Given the description of an element on the screen output the (x, y) to click on. 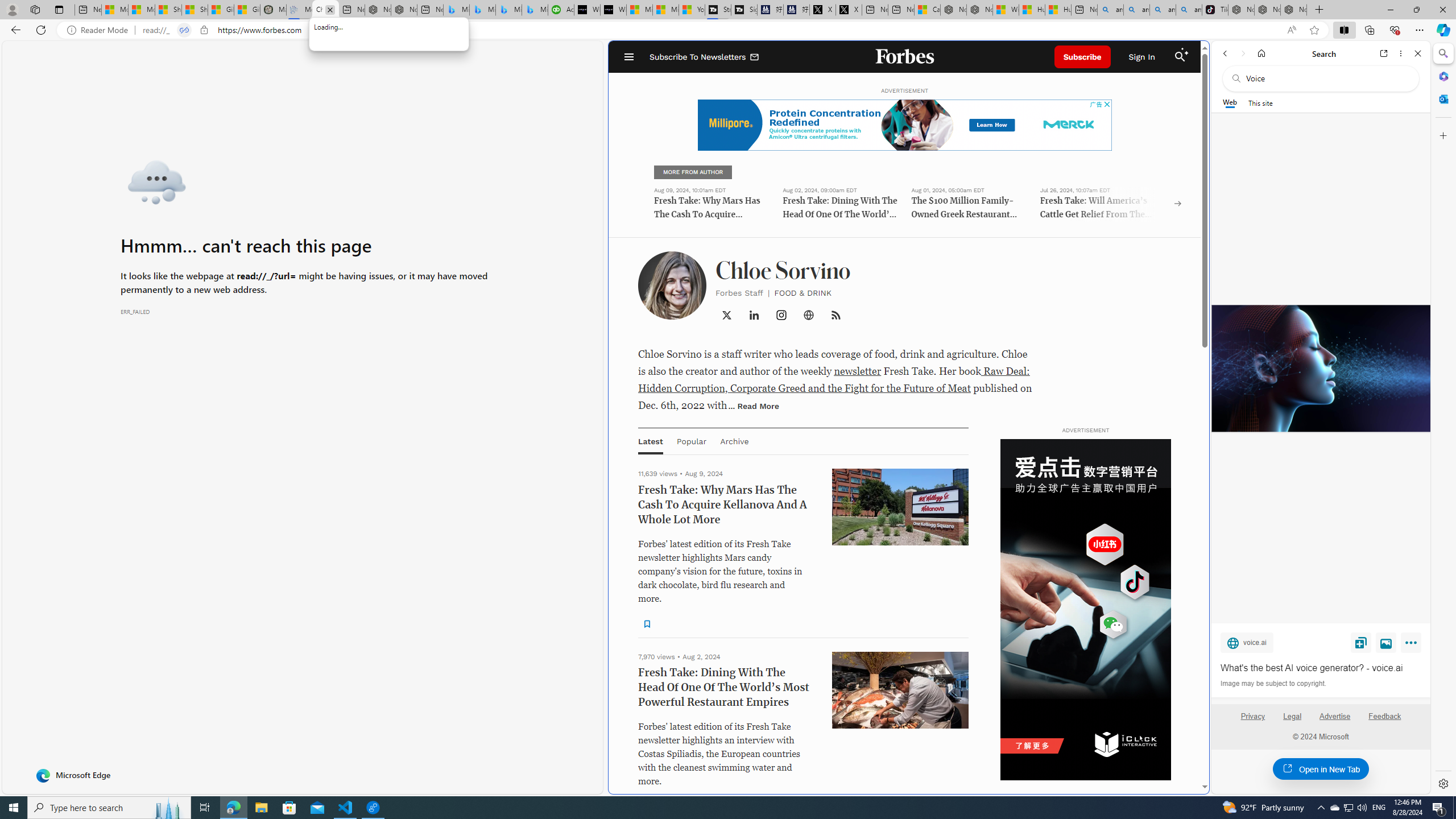
Microsoft 365 (1442, 76)
This site scope (1259, 102)
Outlook (1442, 98)
Open link in new tab (1383, 53)
Chloe Sorvino (325, 9)
Side bar (1443, 418)
